Given the description of an element on the screen output the (x, y) to click on. 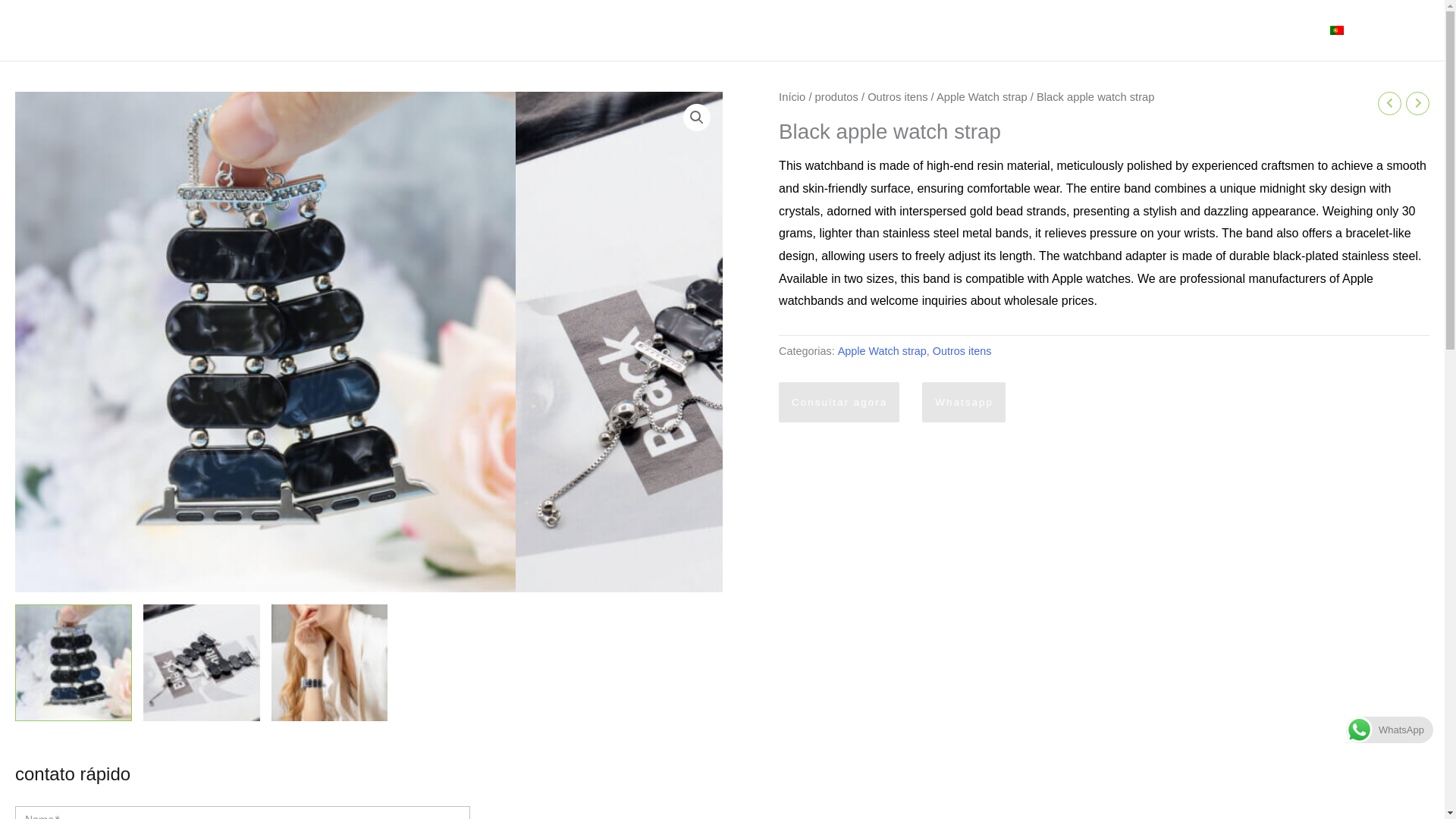
CUSTOM PRODUCT (966, 30)
OUTROS (1084, 30)
CASA (608, 30)
WHAT WE DO (691, 30)
INDUSTRY TABLET (820, 30)
